Given the description of an element on the screen output the (x, y) to click on. 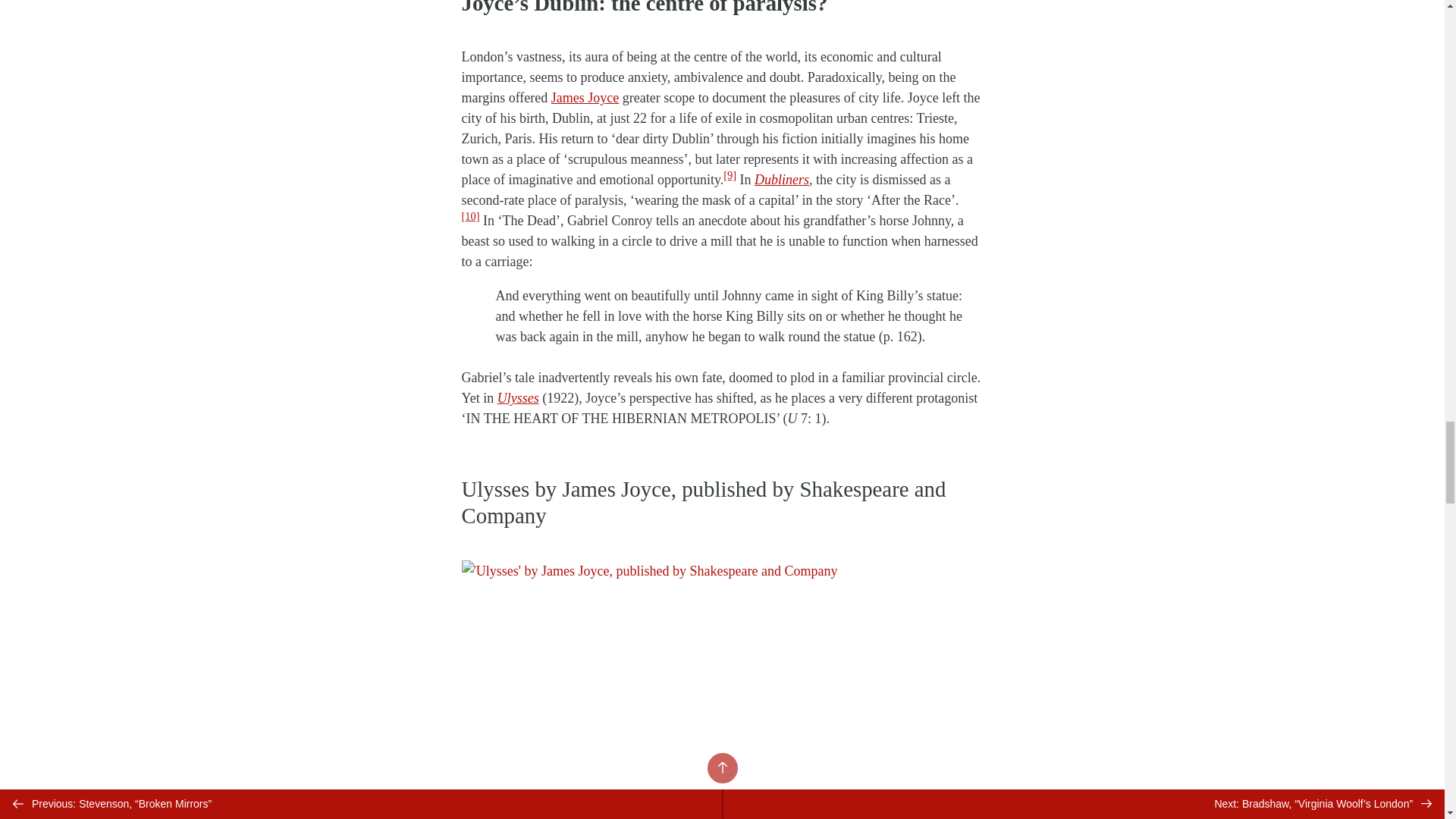
Dubliners (781, 179)
Ulysses (517, 397)
James Joyce (584, 97)
